Given the description of an element on the screen output the (x, y) to click on. 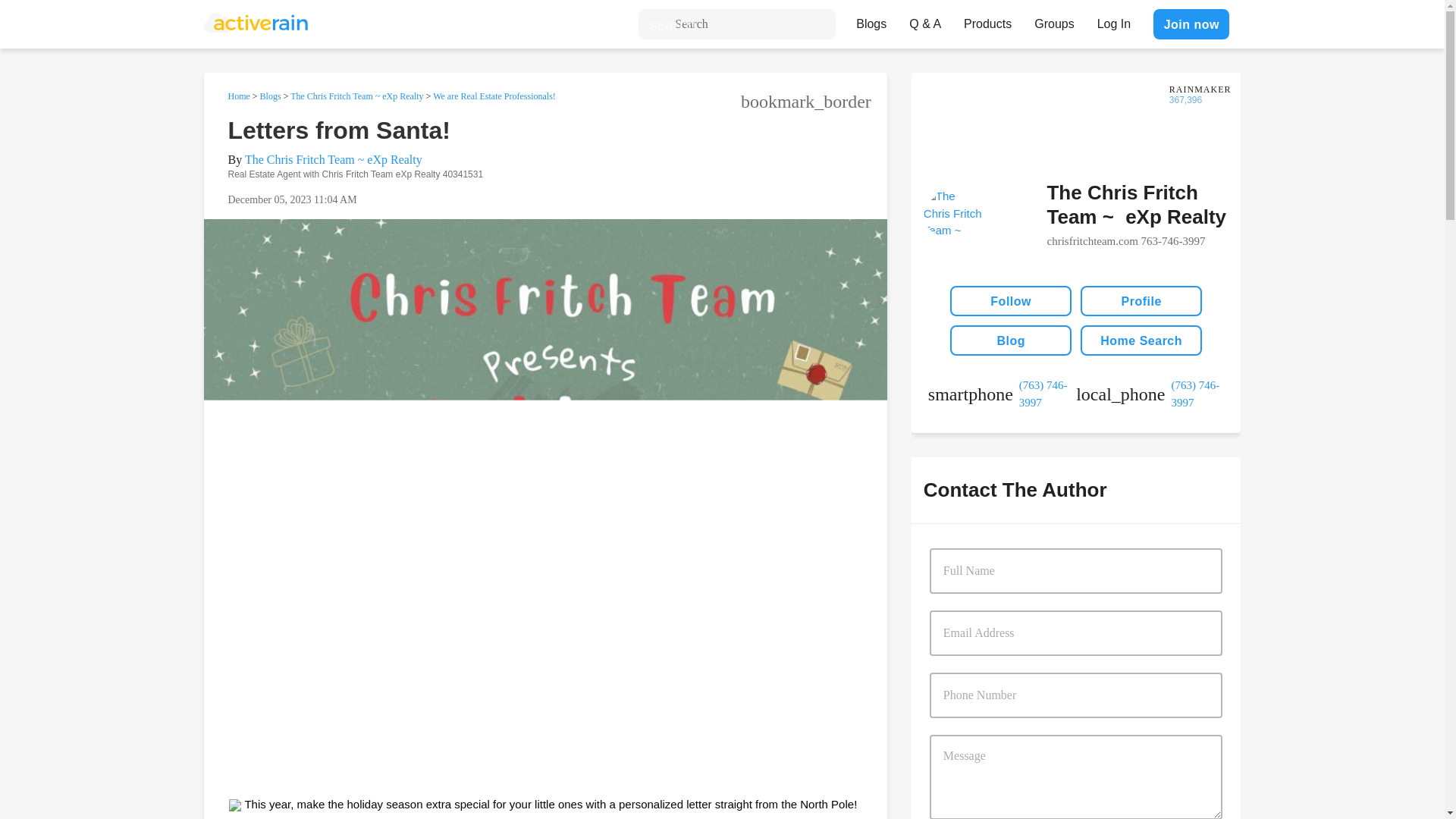
work (1149, 393)
Products (986, 19)
cell (1001, 393)
Groups (1053, 19)
Join now (1190, 24)
Home (237, 95)
Log In (1113, 19)
We are Real Estate Professionals! (494, 95)
Blogs (270, 95)
Blogs (870, 19)
